Given the description of an element on the screen output the (x, y) to click on. 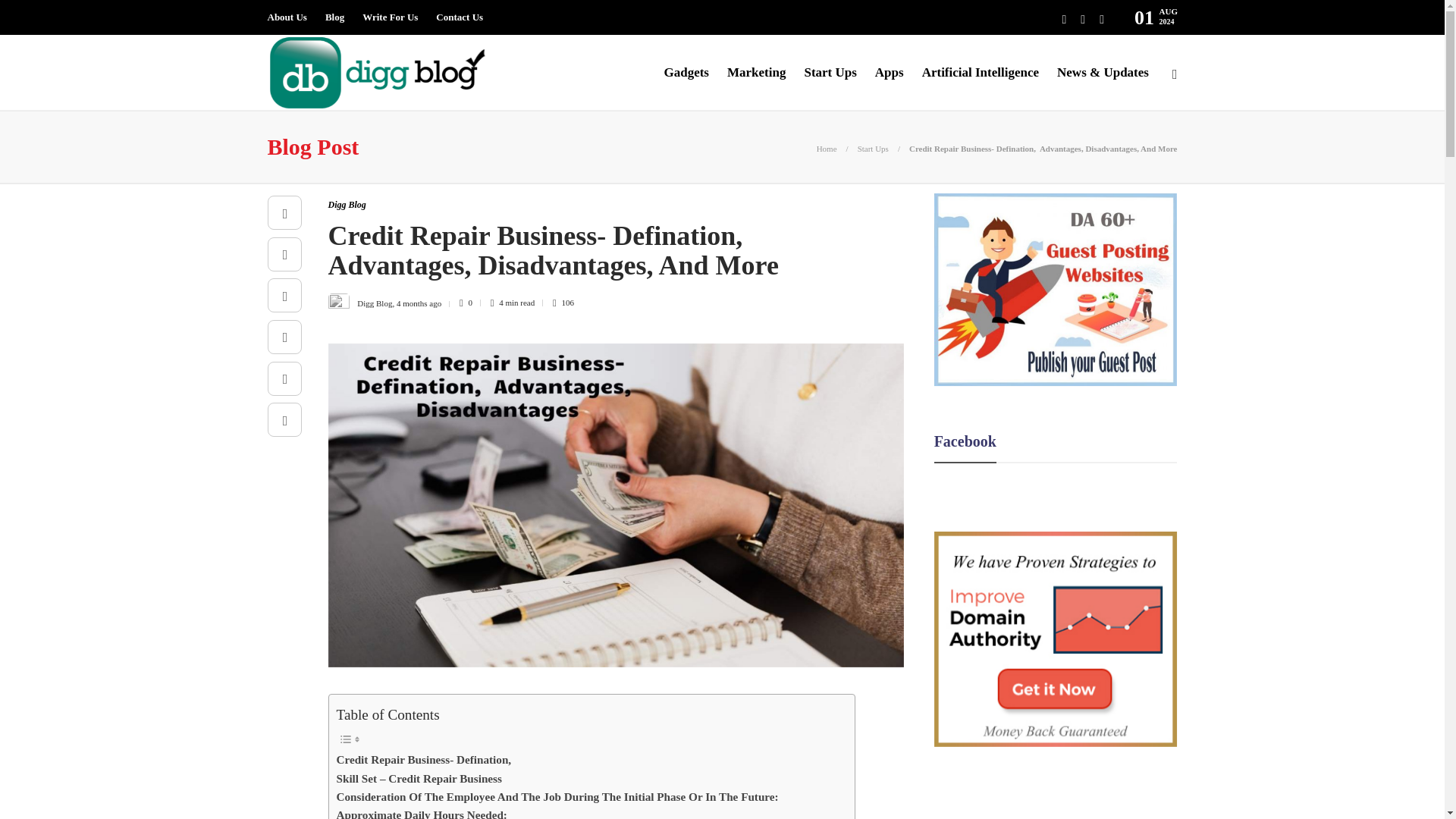
Home (826, 148)
About Us (285, 17)
Write For Us (389, 17)
Digg Blog (346, 204)
Start Ups (872, 148)
Contact Us (459, 17)
Credit Repair Business- Defination, (424, 760)
Artificial Intelligence (980, 72)
